Given the description of an element on the screen output the (x, y) to click on. 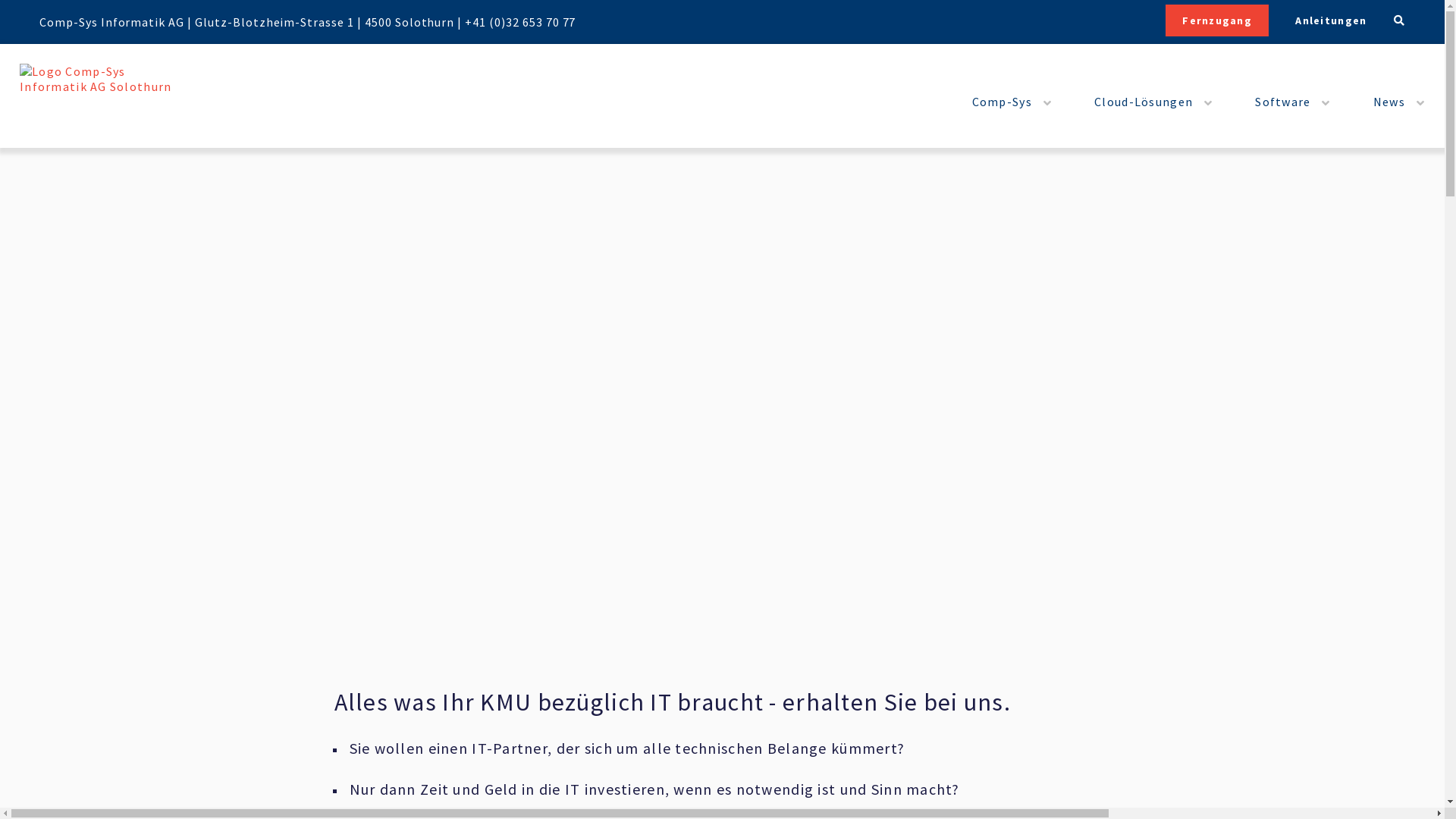
Fernzugang Element type: text (1216, 20)
Software Element type: text (1277, 101)
News Element type: text (1384, 101)
Comp-Sys Element type: text (996, 101)
+41 (0)32 653 70 77 Element type: text (519, 21)
Anleitungen Element type: text (1320, 20)
